Given the description of an element on the screen output the (x, y) to click on. 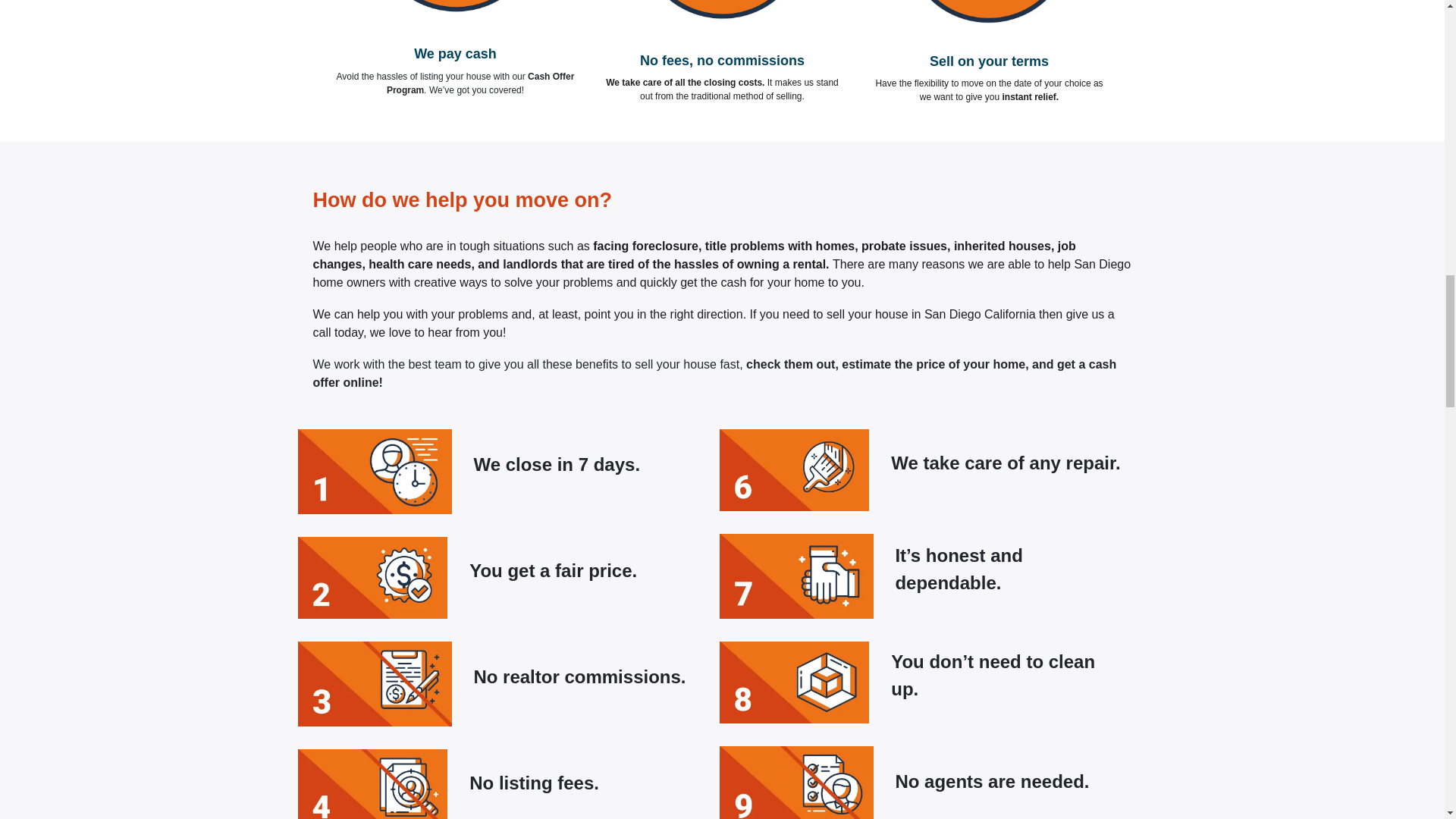
get a cash offer online! (714, 373)
